Given the description of an element on the screen output the (x, y) to click on. 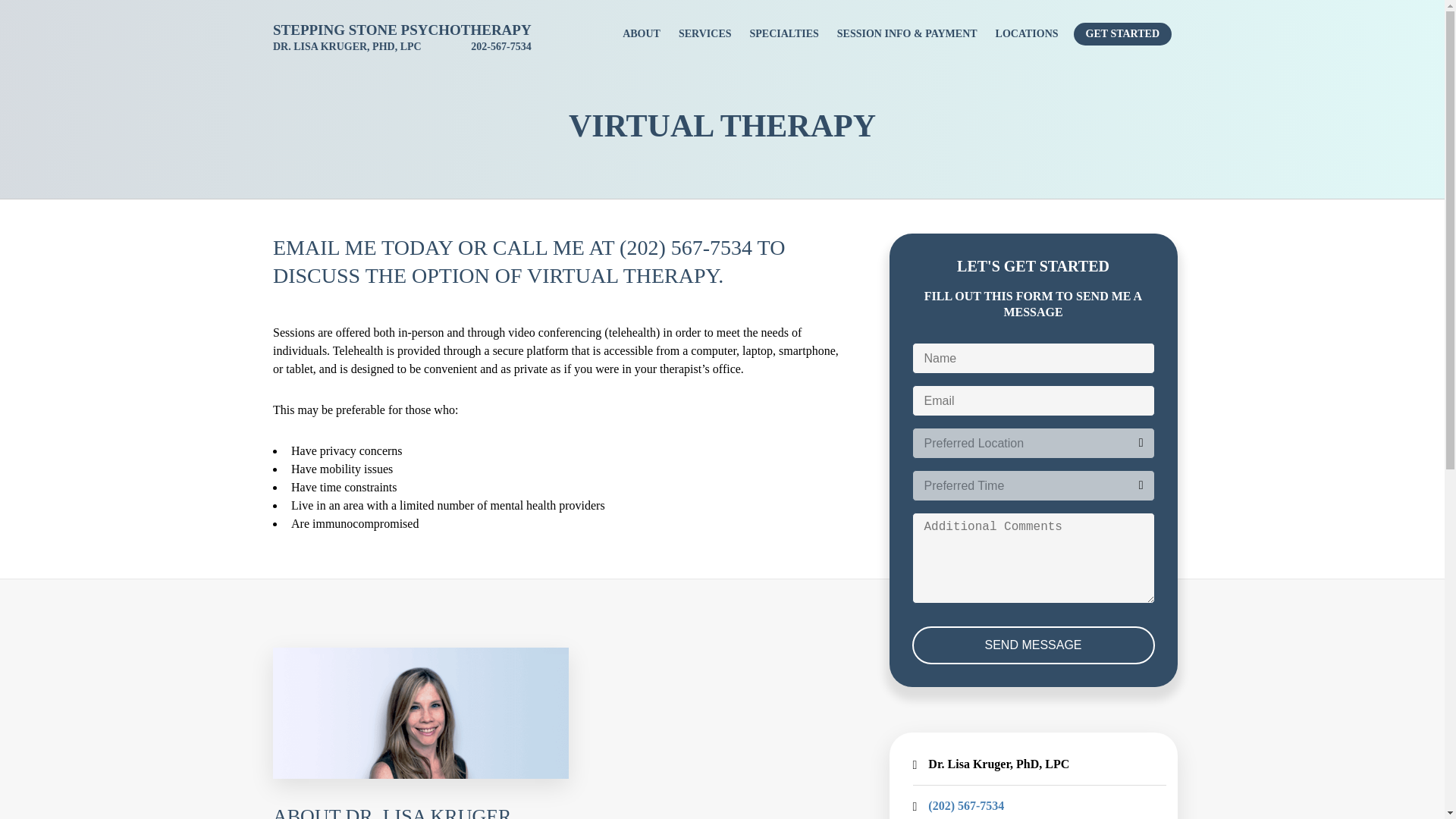
SEND MESSAGE (1032, 645)
GET STARTED (1123, 33)
202-567-7534 (500, 46)
SERVICES (705, 33)
ABOUT (641, 33)
SPECIALTIES (784, 33)
LOCATIONS (1026, 33)
STEPPING STONE PSYCHOTHERAPY (402, 29)
